Given the description of an element on the screen output the (x, y) to click on. 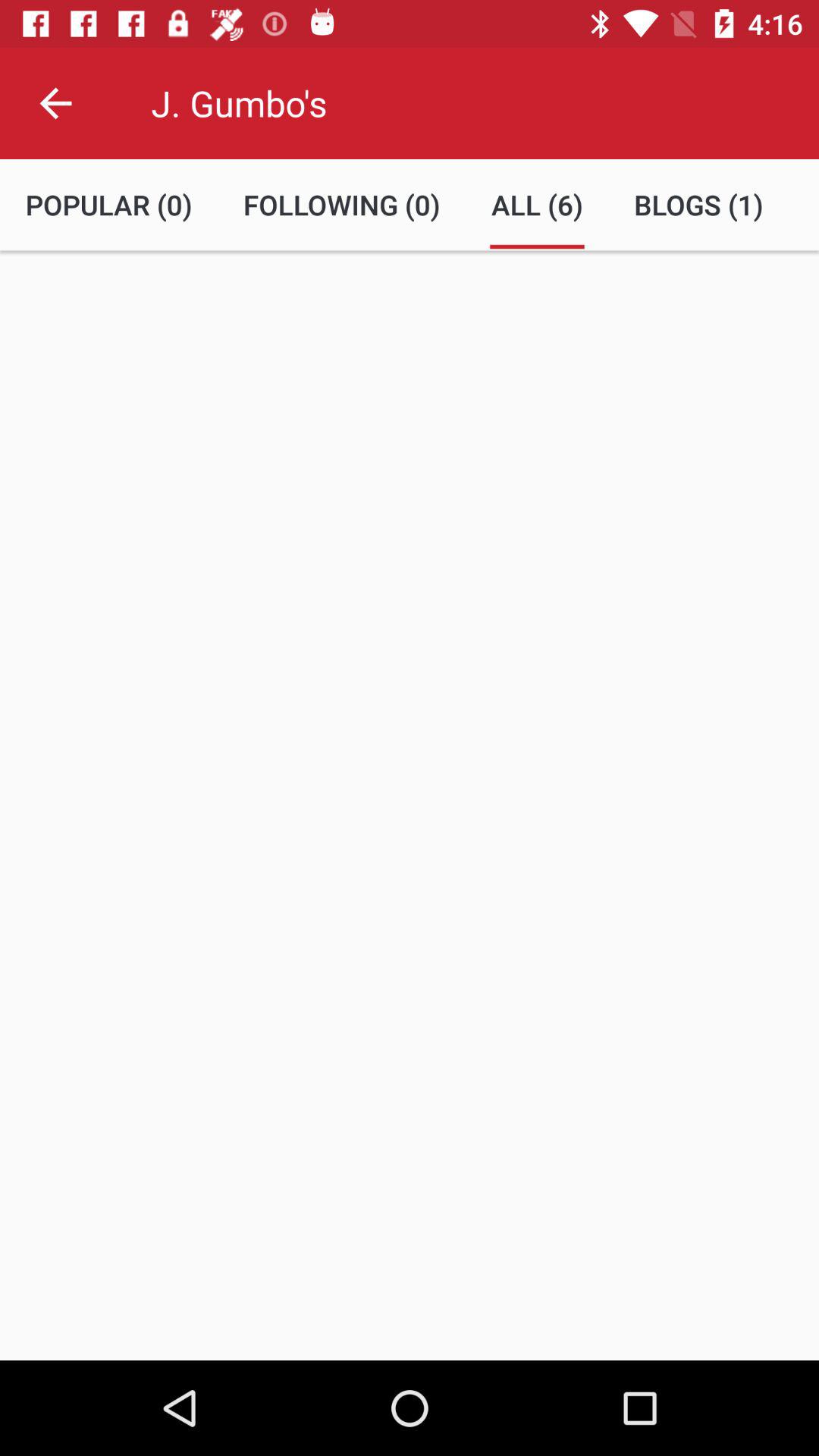
flip until the blogs (1) icon (698, 204)
